Given the description of an element on the screen output the (x, y) to click on. 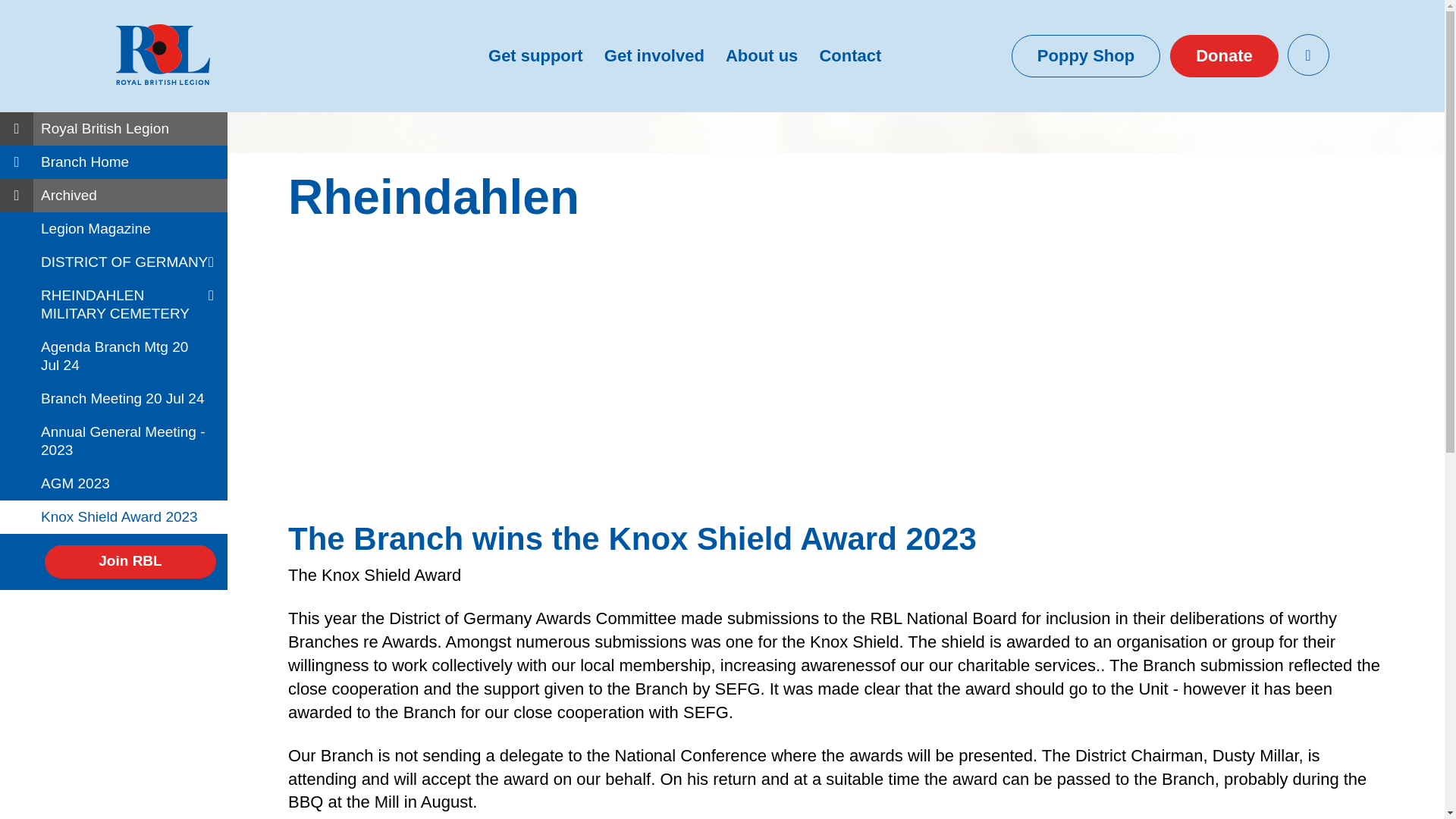
Get involved (654, 55)
Contact (849, 55)
Donate (1224, 56)
Poppy Shop (1085, 56)
I'm a button link (1224, 56)
Archived (113, 195)
The Royal British Legion Logo (162, 54)
Royal British Legion (113, 128)
Branch Home (113, 162)
Get support (535, 55)
